Given the description of an element on the screen output the (x, y) to click on. 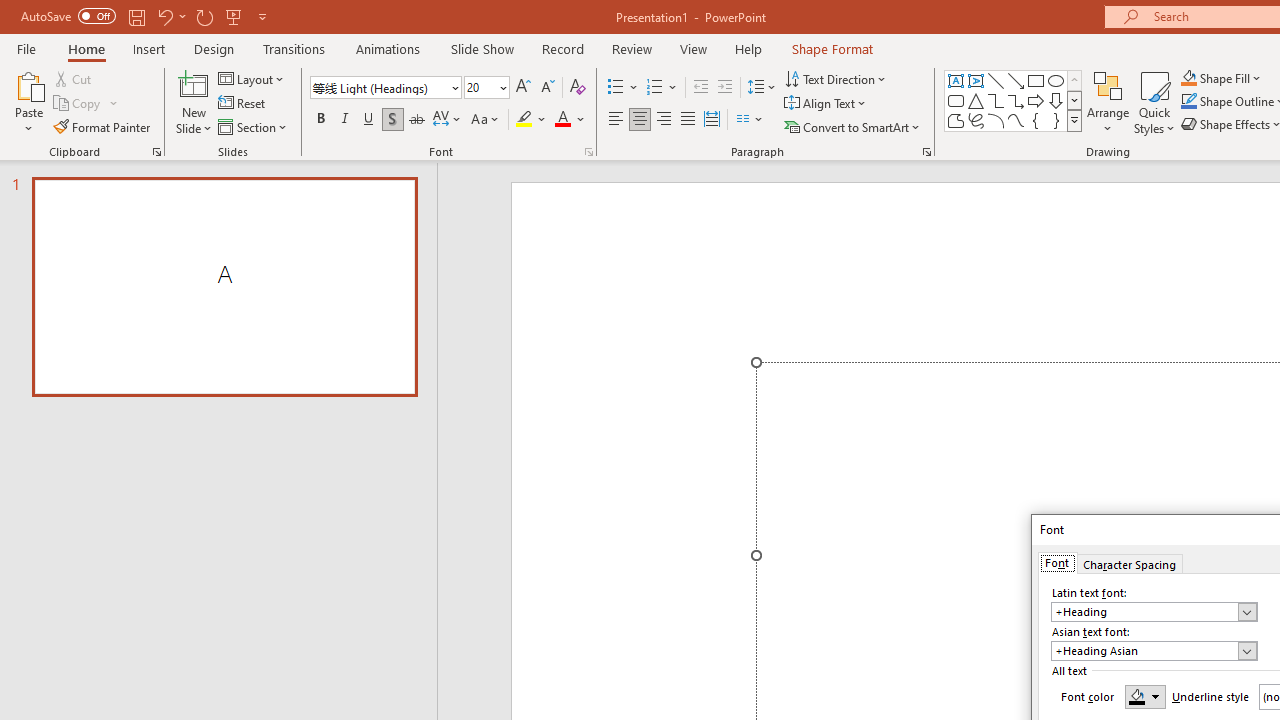
Asian text font (1154, 650)
